Given the description of an element on the screen output the (x, y) to click on. 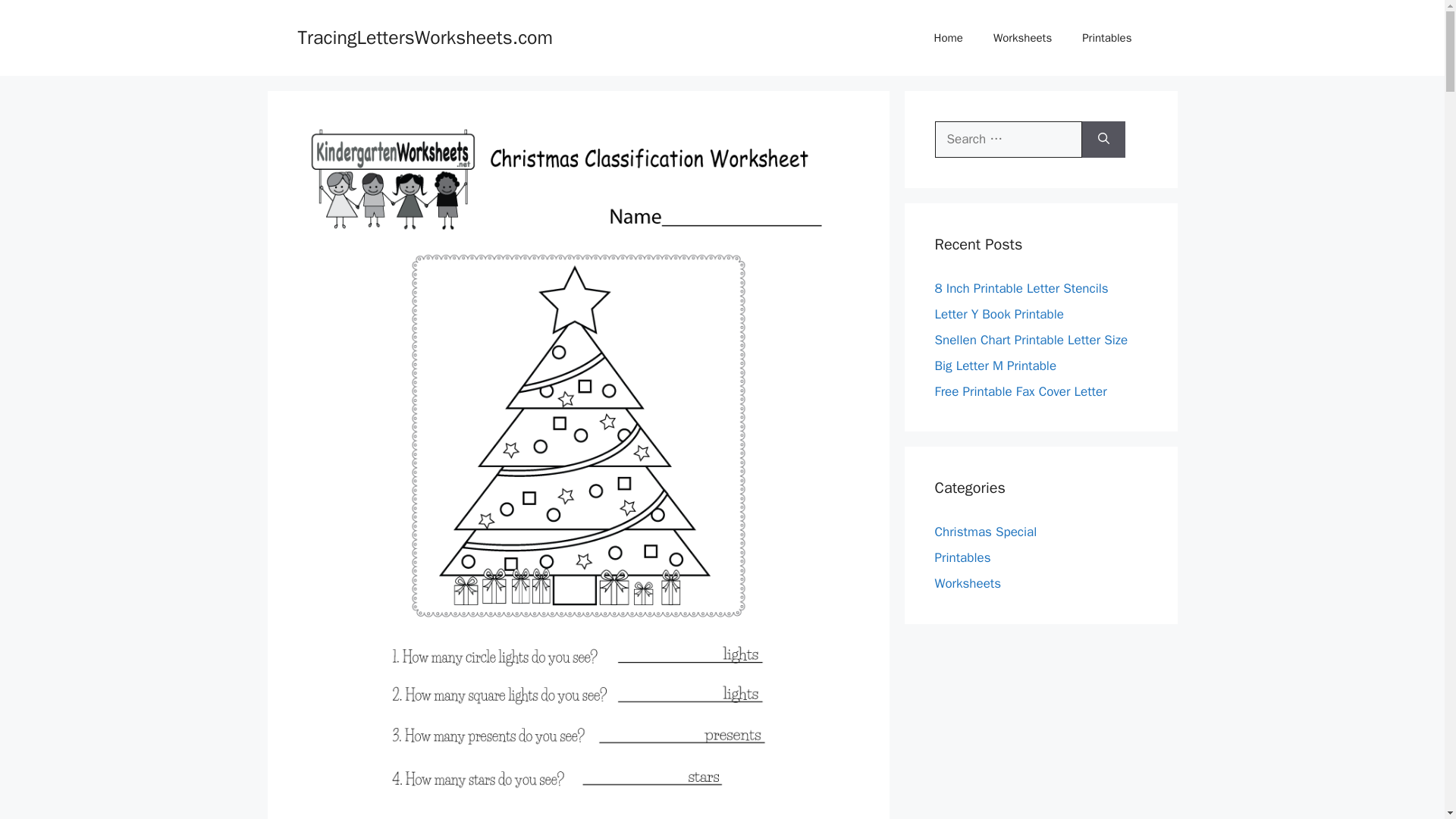
Worksheets (967, 583)
Letter Y Book Printable (998, 314)
8 Inch Printable Letter Stencils (1021, 288)
TracingLettersWorksheets.com (425, 37)
Worksheets (1022, 37)
Big Letter M Printable (995, 365)
Free Printable Fax Cover Letter (1020, 391)
Christmas Special (985, 531)
Home (948, 37)
Printables (962, 557)
Snellen Chart Printable Letter Size (1030, 340)
Search for: (1007, 139)
Printables (1107, 37)
